Given the description of an element on the screen output the (x, y) to click on. 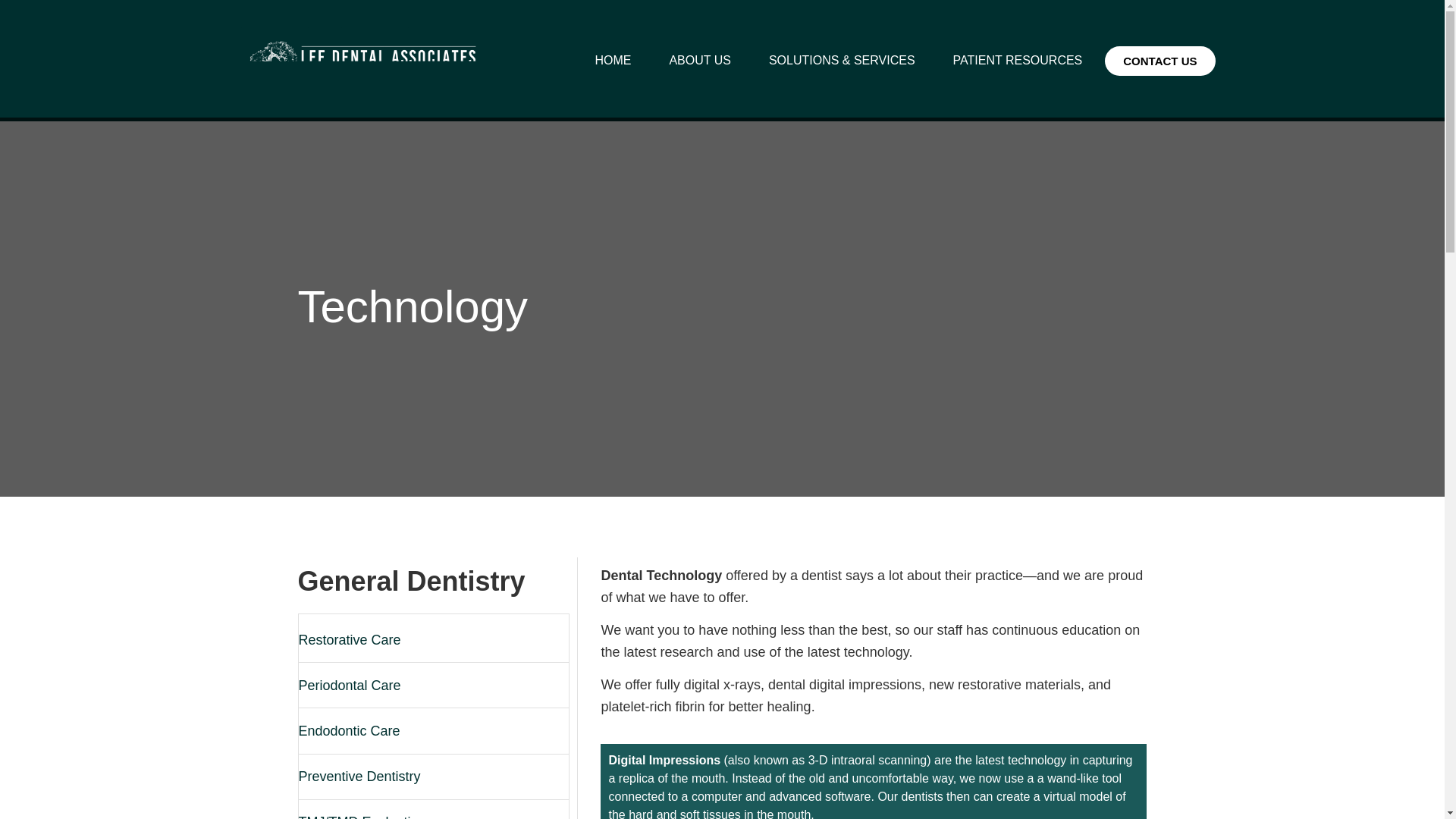
HOME (612, 60)
PATIENT RESOURCES (1018, 60)
ABOUT US (700, 60)
